Given the description of an element on the screen output the (x, y) to click on. 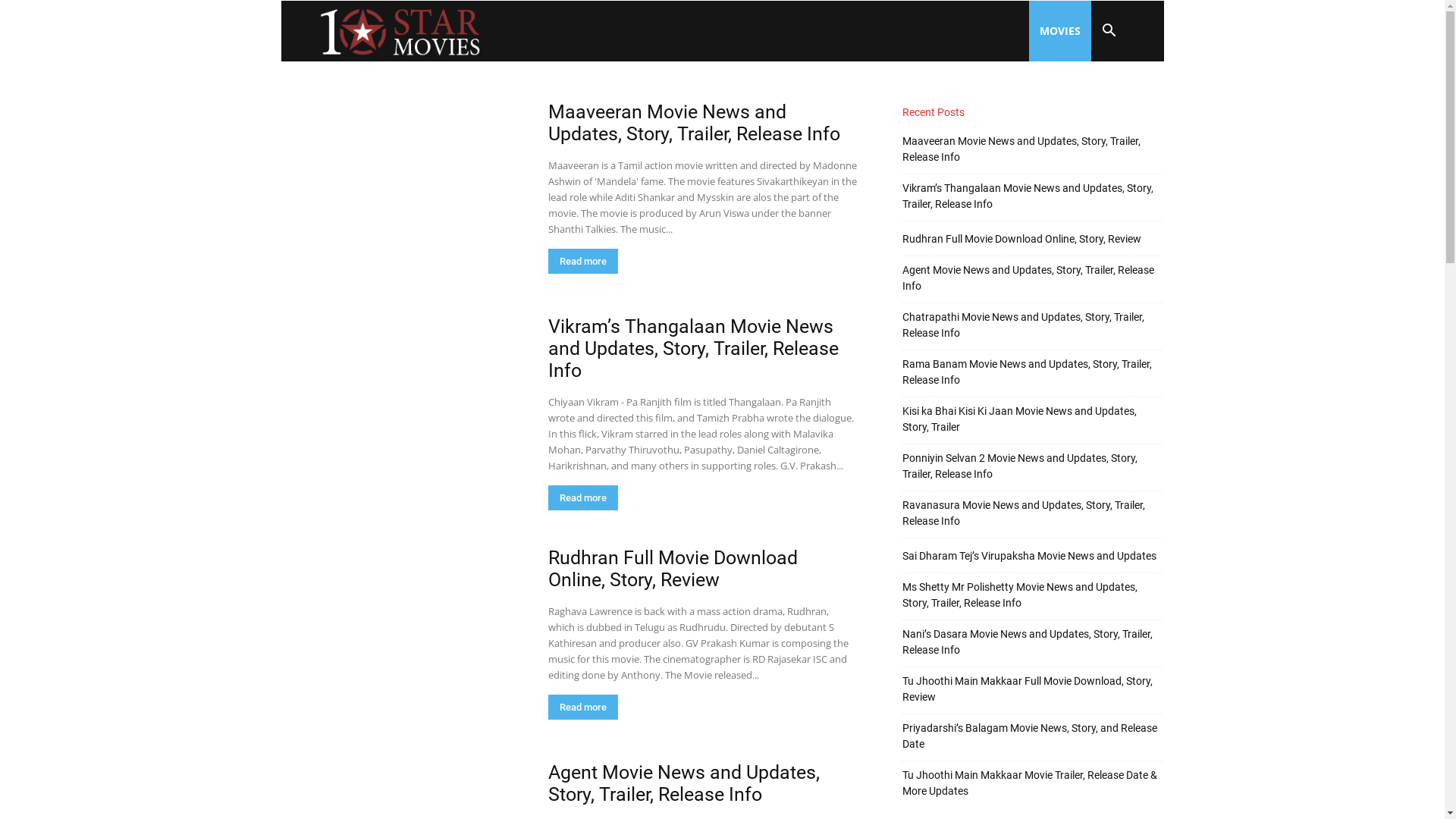
Rudhran Full Movie Download Online, Story, Review Element type: text (1021, 239)
10StarMovies Element type: text (401, 31)
Agent Movie News and Updates, Story, Trailer, Release Info Element type: text (1032, 278)
Rudhran Full Movie Download Online, Story, Review Element type: text (672, 568)
Read more Element type: text (582, 260)
Read more Element type: text (582, 706)
Search Element type: text (1085, 103)
MOVIES Element type: text (1059, 30)
Tu Jhoothi Main Makkaar Full Movie Download, Story, Review Element type: text (1032, 689)
Rudhran Full Movie Download Online, Story, Review Element type: hover (404, 635)
Read more Element type: text (582, 497)
Agent Movie News and Updates, Story, Trailer, Release Info Element type: text (683, 783)
